Given the description of an element on the screen output the (x, y) to click on. 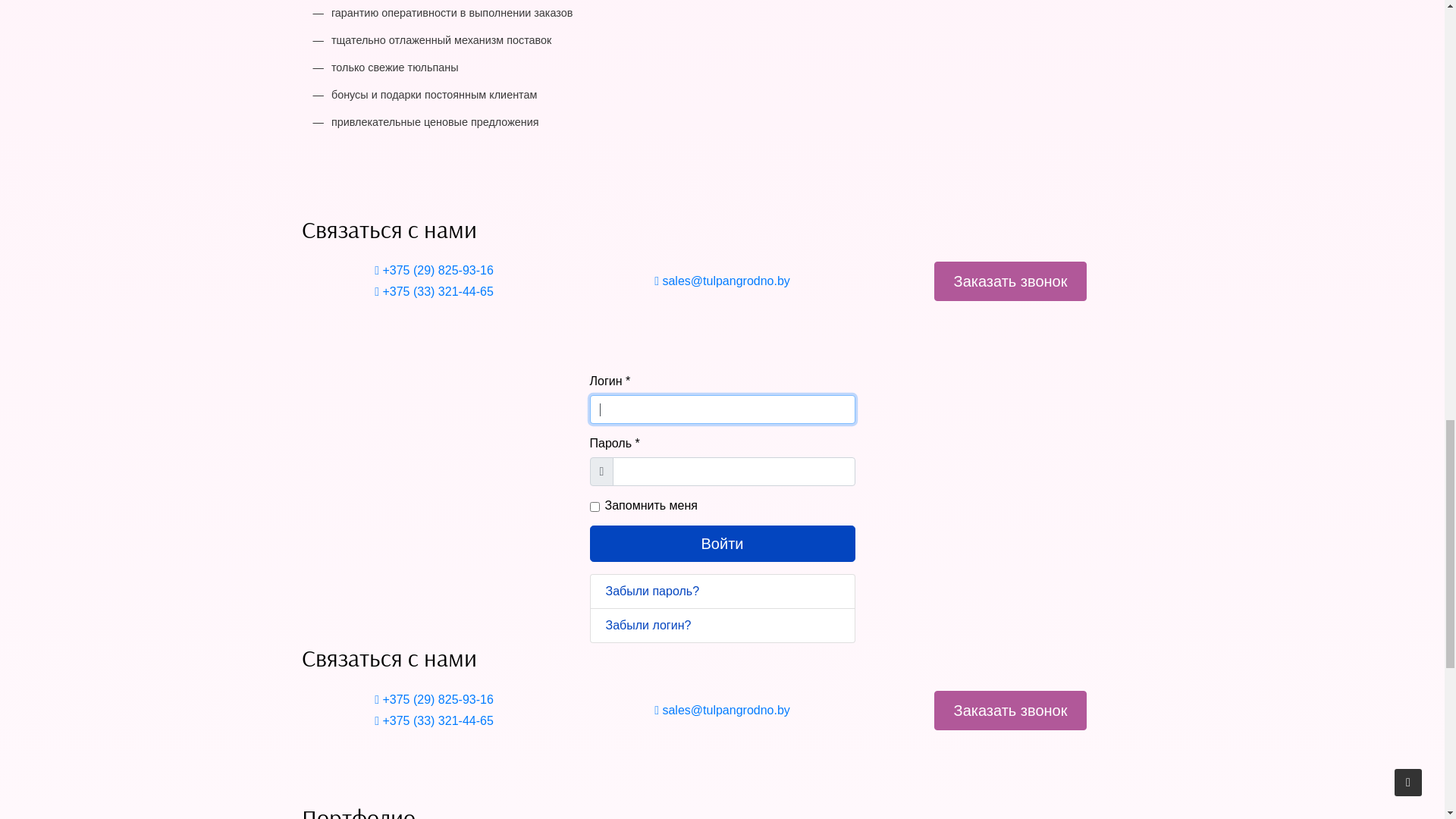
+375 (29) 825-93-16 Element type: text (820, 18)
sales@tulpangrodno.by Element type: text (938, 18)
